Given the description of an element on the screen output the (x, y) to click on. 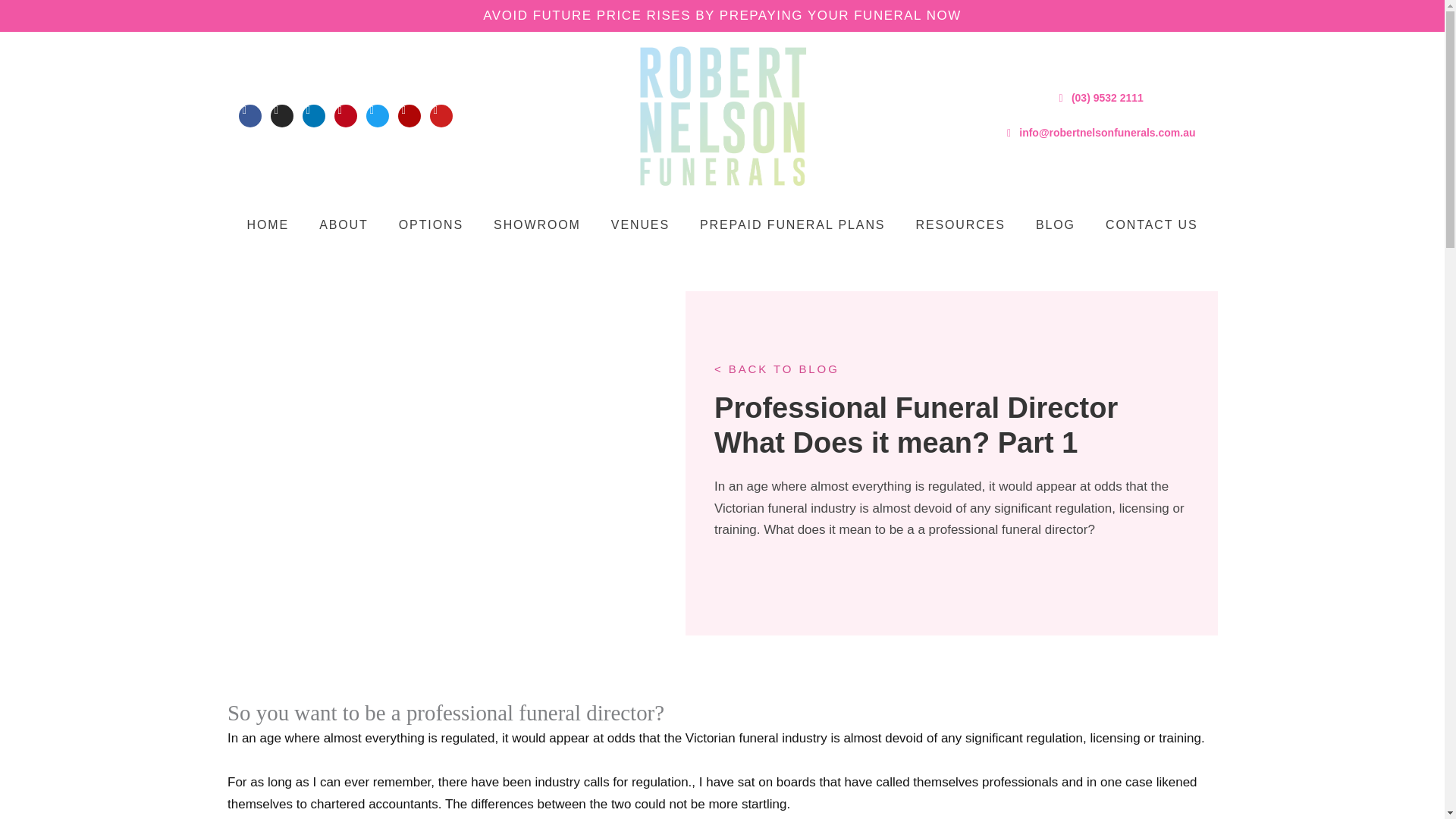
ABOUT (344, 225)
PREPAID FUNERAL PLANS (791, 225)
OPTIONS (431, 225)
Pinterest (345, 115)
Youtube (440, 115)
Instagram (282, 115)
VENUES (639, 225)
Linkedin (313, 115)
Facebook (250, 115)
Twitter (377, 115)
Yelp (408, 115)
RESOURCES (959, 225)
SHOWROOM (537, 225)
HOME (267, 225)
